Given the description of an element on the screen output the (x, y) to click on. 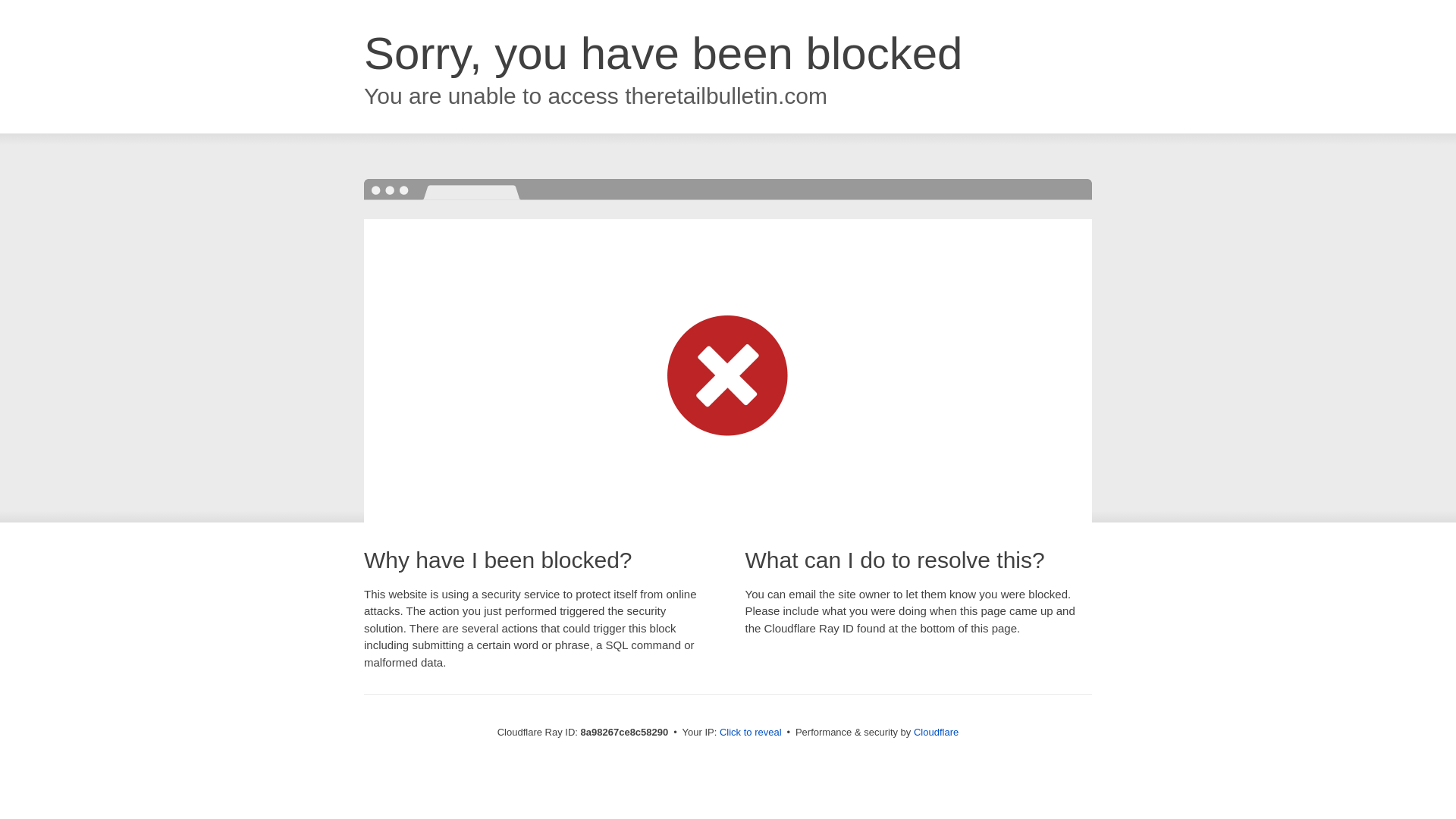
Cloudflare (936, 731)
Click to reveal (750, 732)
